Given the description of an element on the screen output the (x, y) to click on. 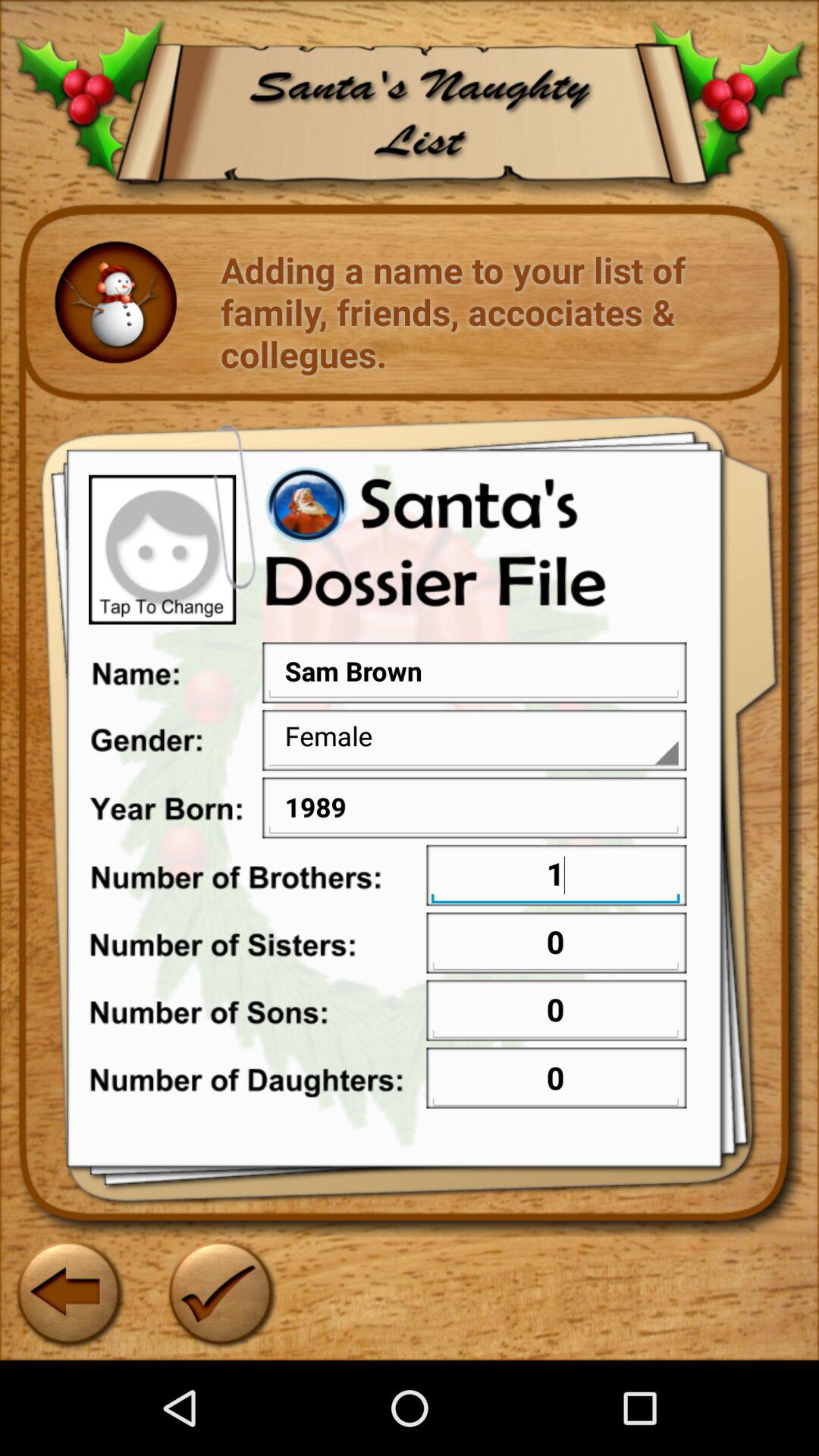
change avatar (162, 549)
